Given the description of an element on the screen output the (x, y) to click on. 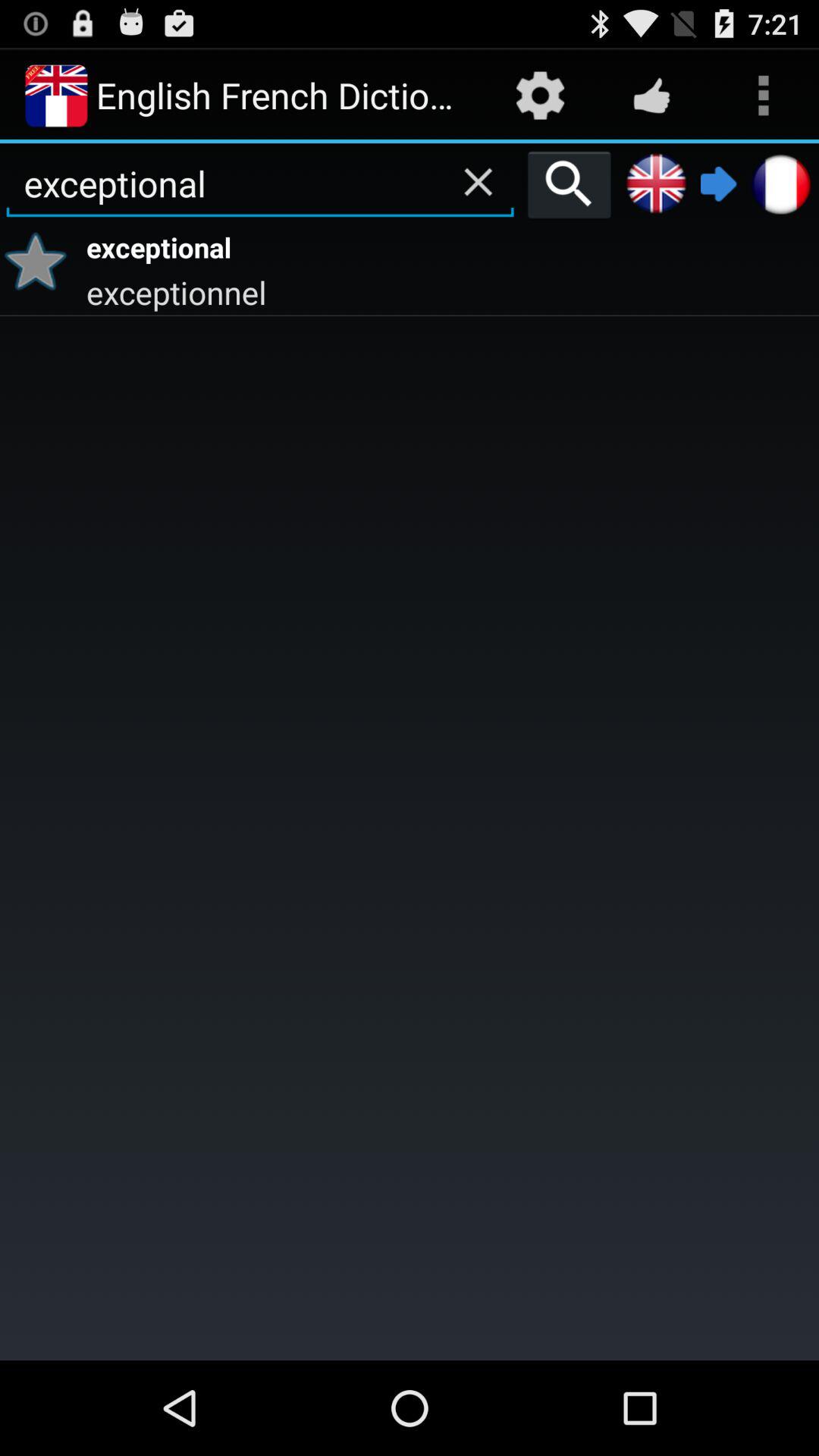
press app next to the english french dictionary item (540, 95)
